Given the description of an element on the screen output the (x, y) to click on. 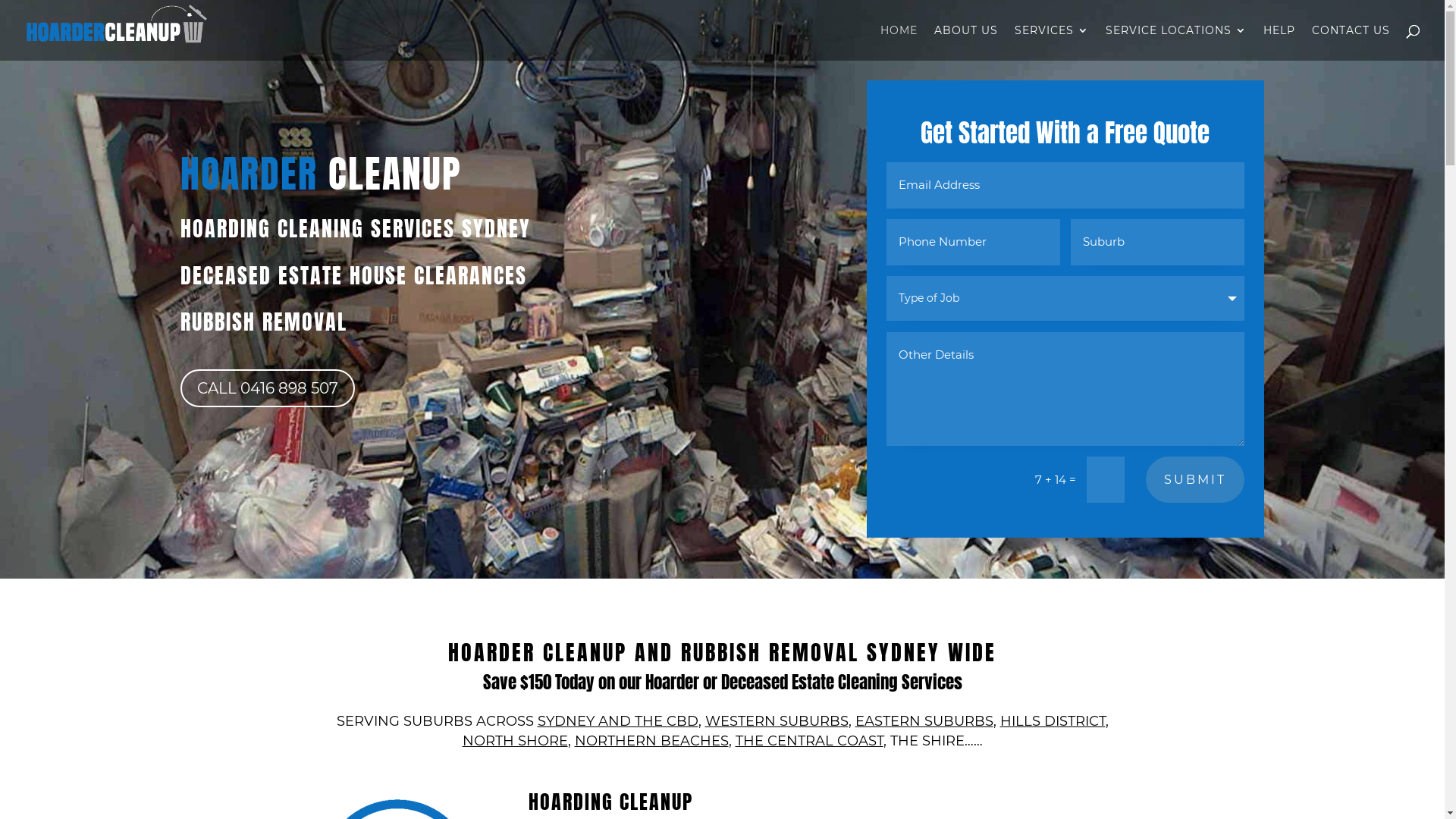
CALL 0416 898 507 Element type: text (267, 388)
THE CENTRAL COAST Element type: text (809, 740)
NORTH SHORE Element type: text (514, 740)
EASTERN SUBURBS Element type: text (924, 720)
SYDNEY AND THE CBD Element type: text (616, 720)
ABOUT US Element type: text (965, 42)
SERVICE LOCATIONS Element type: text (1175, 42)
CONTACT US Element type: text (1350, 42)
NORTHERN BEACHES Element type: text (651, 740)
HELP Element type: text (1279, 42)
HOME Element type: text (898, 42)
SERVICES Element type: text (1051, 42)
WESTERN SUBURBS Element type: text (776, 720)
SUBMIT Element type: text (1194, 479)
HILLS DISTRICT Element type: text (1051, 720)
